Given the description of an element on the screen output the (x, y) to click on. 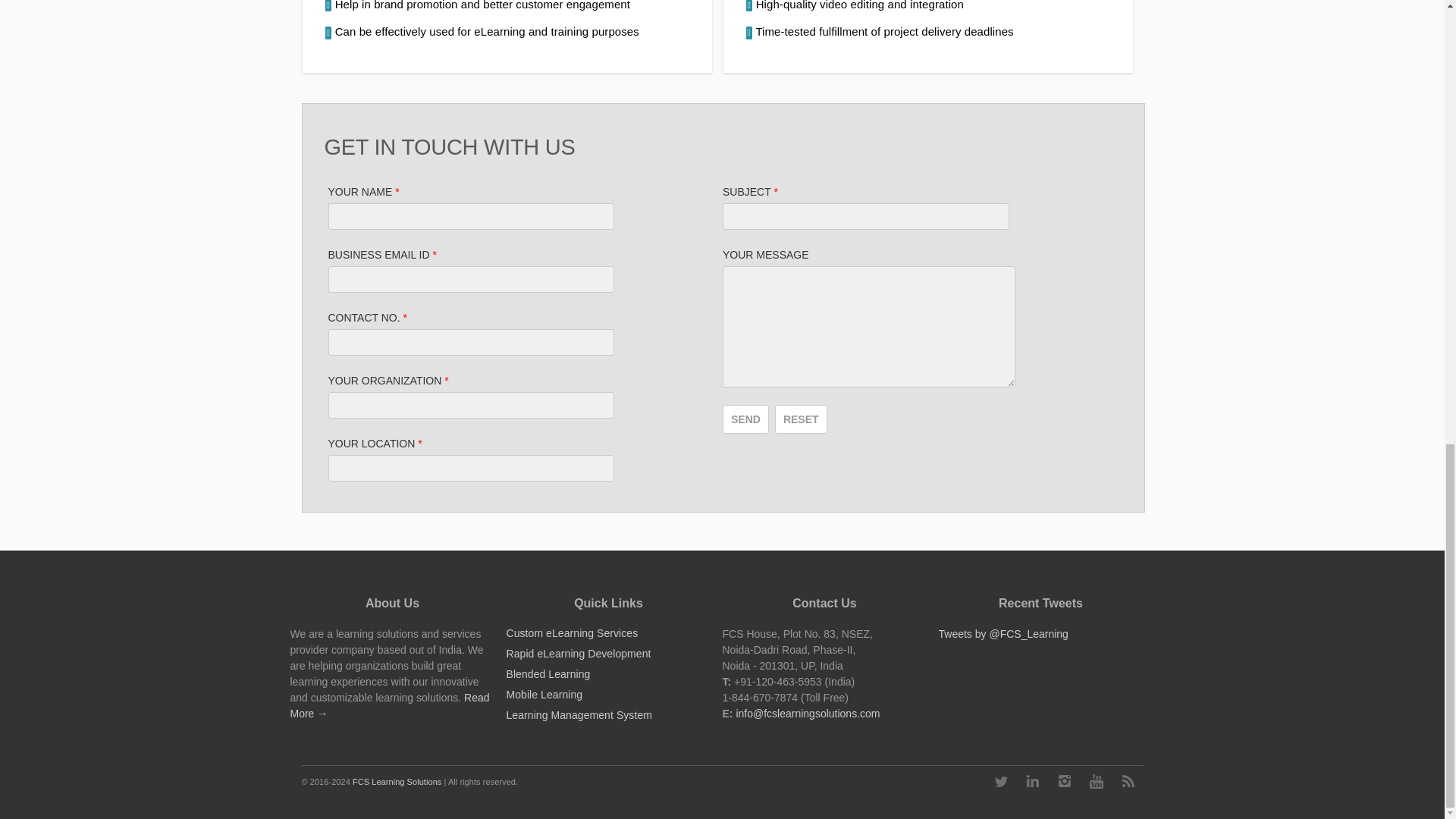
RESET (800, 419)
SEND (745, 419)
